Given the description of an element on the screen output the (x, y) to click on. 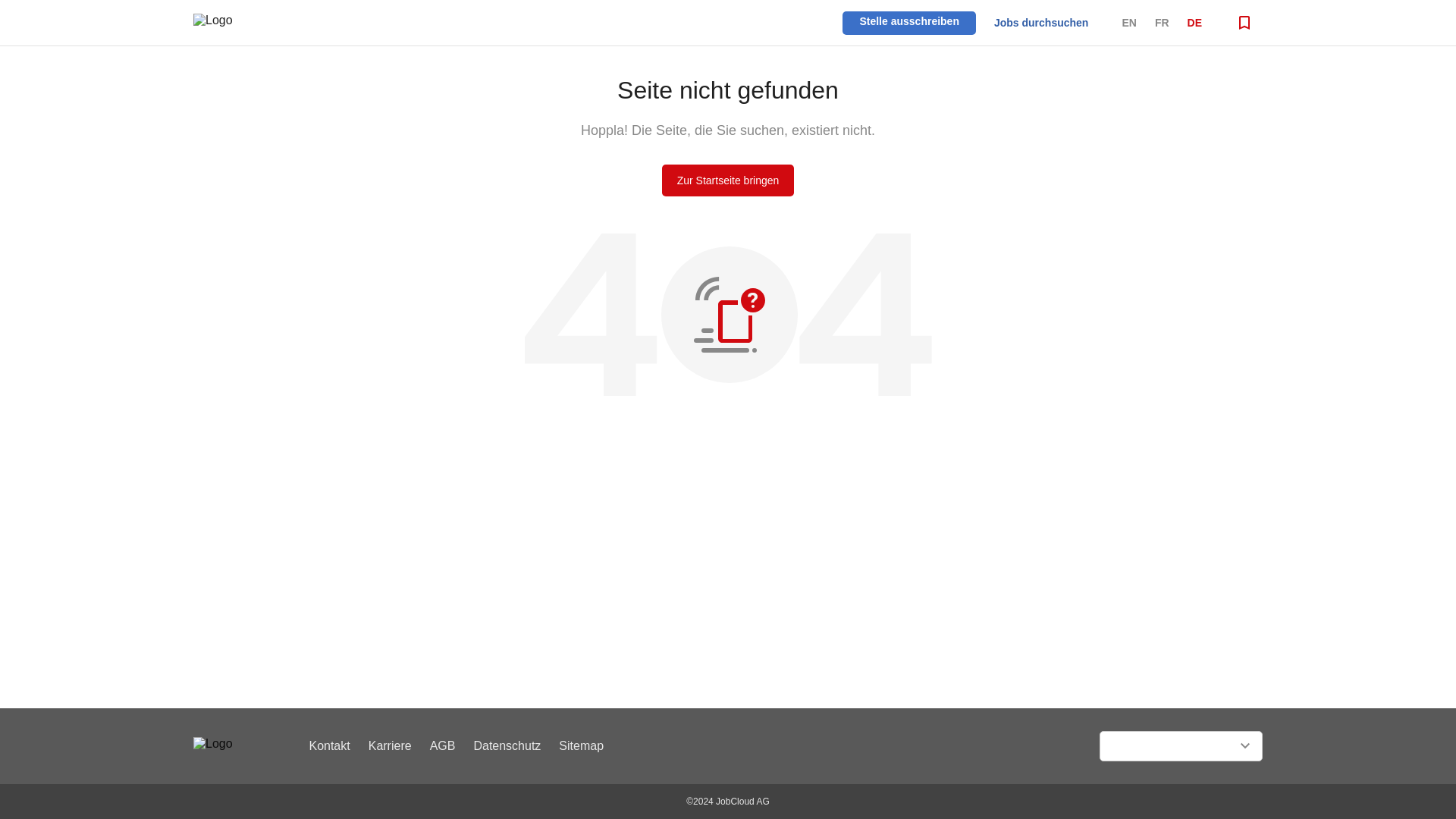
Kontakt (328, 745)
Datenschutz (506, 745)
EN (1128, 22)
FR (1161, 22)
Karriere (390, 745)
Jobs durchsuchen (1040, 22)
AGB (442, 745)
Merkliste (1243, 22)
Karriere (390, 745)
DE (1195, 22)
Zur Startseite bringen (728, 180)
Sitemap (581, 745)
Stelle ausschreiben (909, 20)
